Given the description of an element on the screen output the (x, y) to click on. 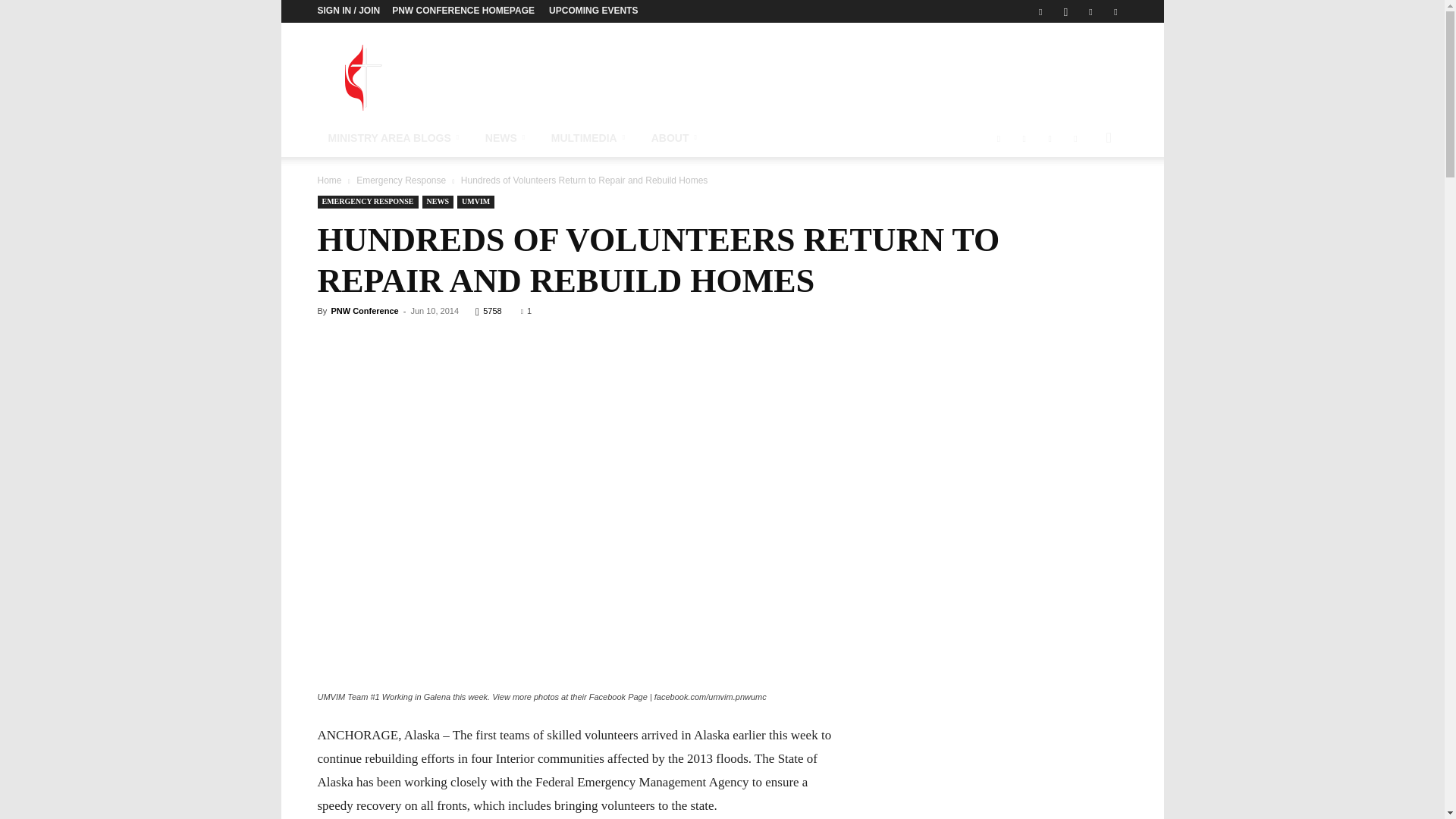
PNW CONFERENCE HOMEPAGE (462, 9)
Twitter (1090, 11)
View all posts in Emergency Response (400, 180)
Youtube (1114, 11)
Facebook (1040, 11)
Instagram (1065, 11)
UPCOMING EVENTS (592, 9)
